Given the description of an element on the screen output the (x, y) to click on. 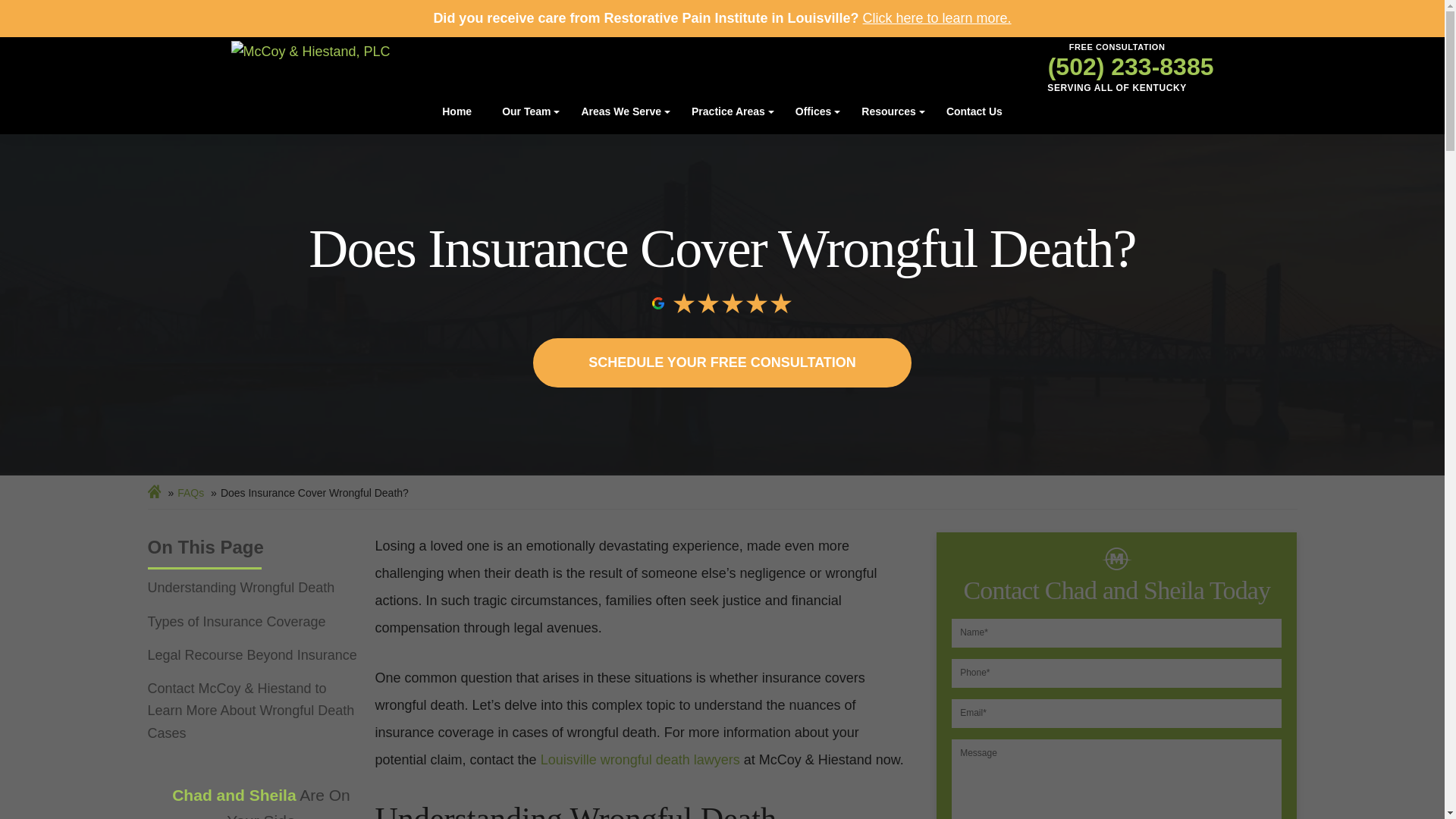
Areas We Serve (620, 111)
Call Us Today (1117, 66)
Understanding Wrongful Death (253, 587)
Our Team (526, 111)
Home (456, 111)
Legal Recourse Beyond Insurance (253, 655)
Click here to learn more. (937, 17)
Types of Insurance Coverage (253, 621)
Practice Areas (728, 111)
